Given the description of an element on the screen output the (x, y) to click on. 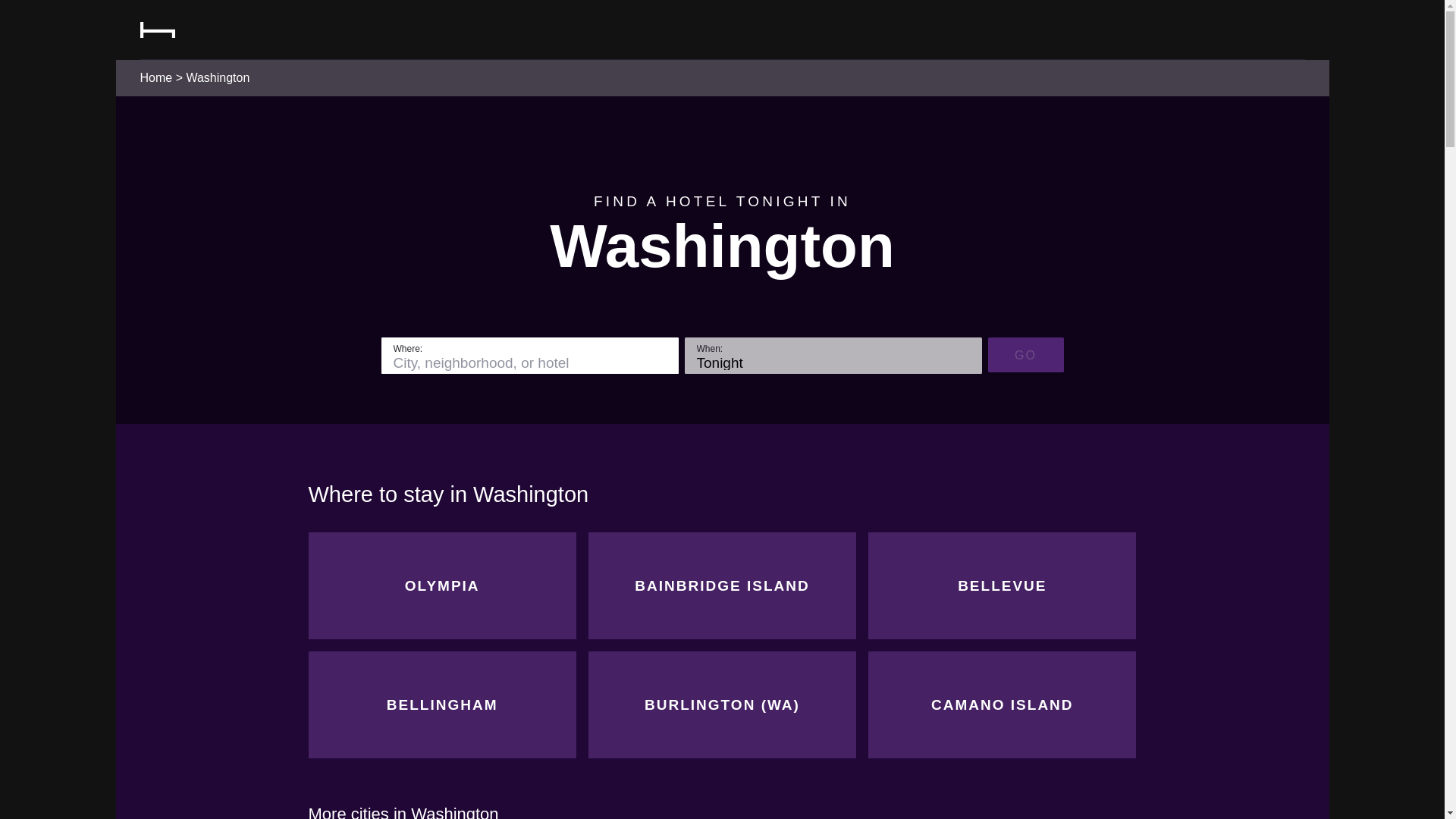
Home (155, 77)
OLYMPIA (441, 585)
BELLINGHAM (441, 704)
BELLEVUE (1001, 585)
BAINBRIDGE ISLAND (722, 585)
CAMANO ISLAND (1001, 704)
GO (1024, 354)
